Given the description of an element on the screen output the (x, y) to click on. 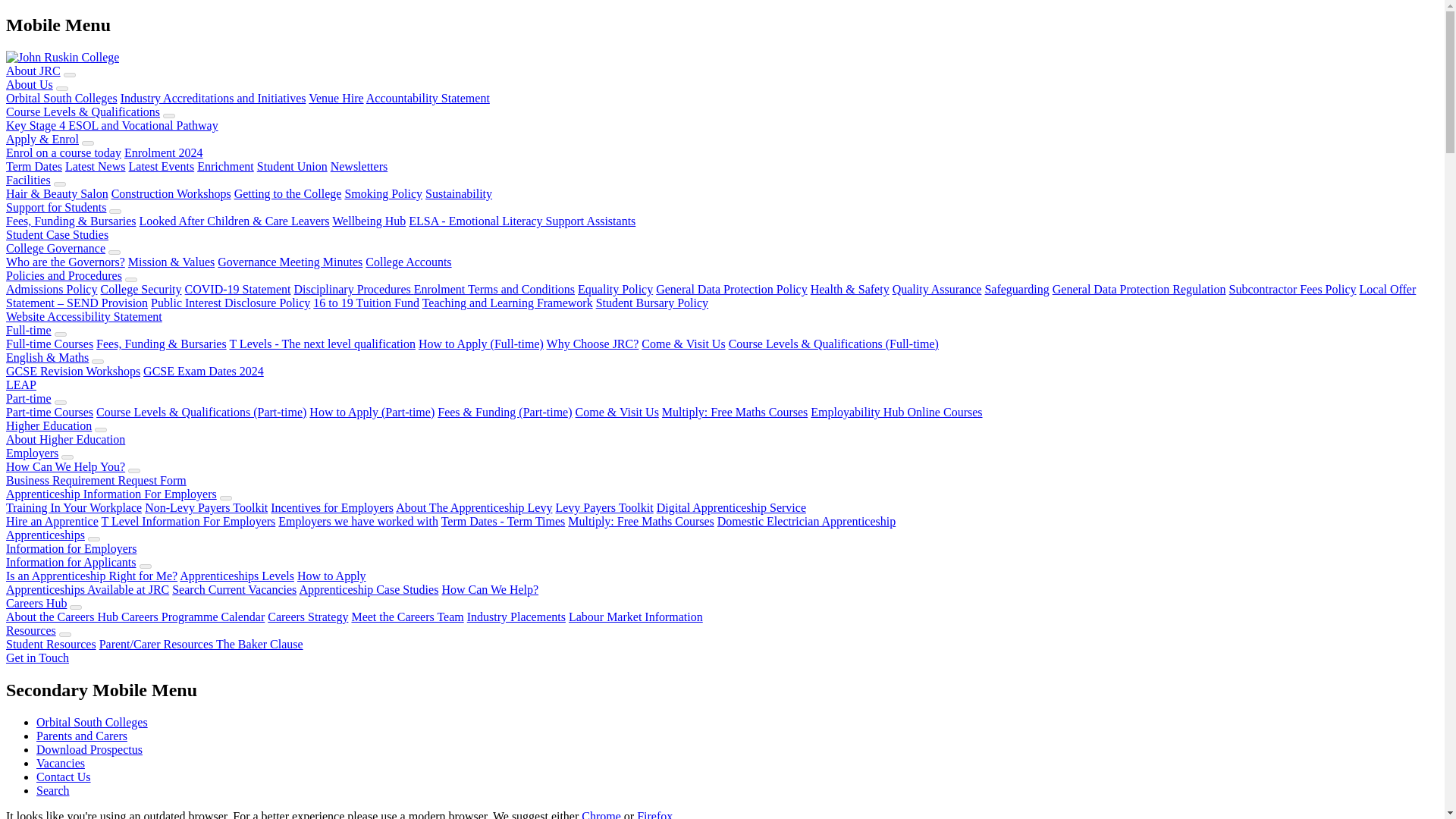
Newsletters (359, 165)
Term Dates (33, 165)
Latest News (95, 165)
Smoking Policy (382, 193)
Facilities (27, 179)
ELSA - Emotional Literacy Support Assistants (521, 220)
Who are the Governors? (65, 261)
Student Union (292, 165)
Getting to the College (288, 193)
College Governance (54, 247)
About Us (28, 83)
Enrichment (224, 165)
Sustainability (458, 193)
Wellbeing Hub (368, 220)
Construction Workshops (171, 193)
